Given the description of an element on the screen output the (x, y) to click on. 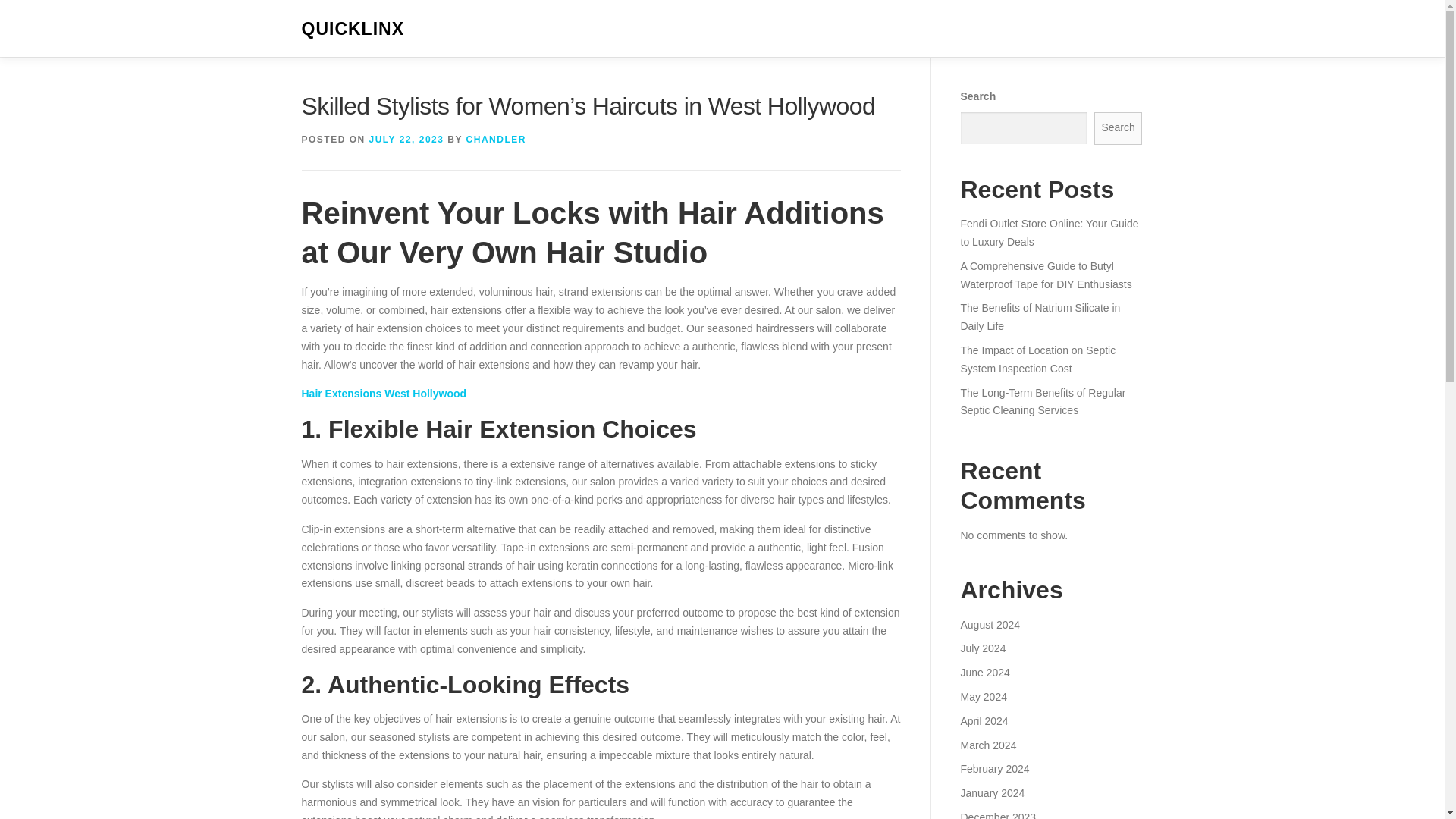
The Benefits of Natrium Silicate in Daily Life (1039, 317)
April 2024 (983, 720)
QUICKLINX (352, 29)
June 2024 (984, 672)
JULY 22, 2023 (406, 139)
January 2024 (992, 793)
The Impact of Location on Septic System Inspection Cost (1037, 358)
May 2024 (982, 696)
December 2023 (997, 815)
